Given the description of an element on the screen output the (x, y) to click on. 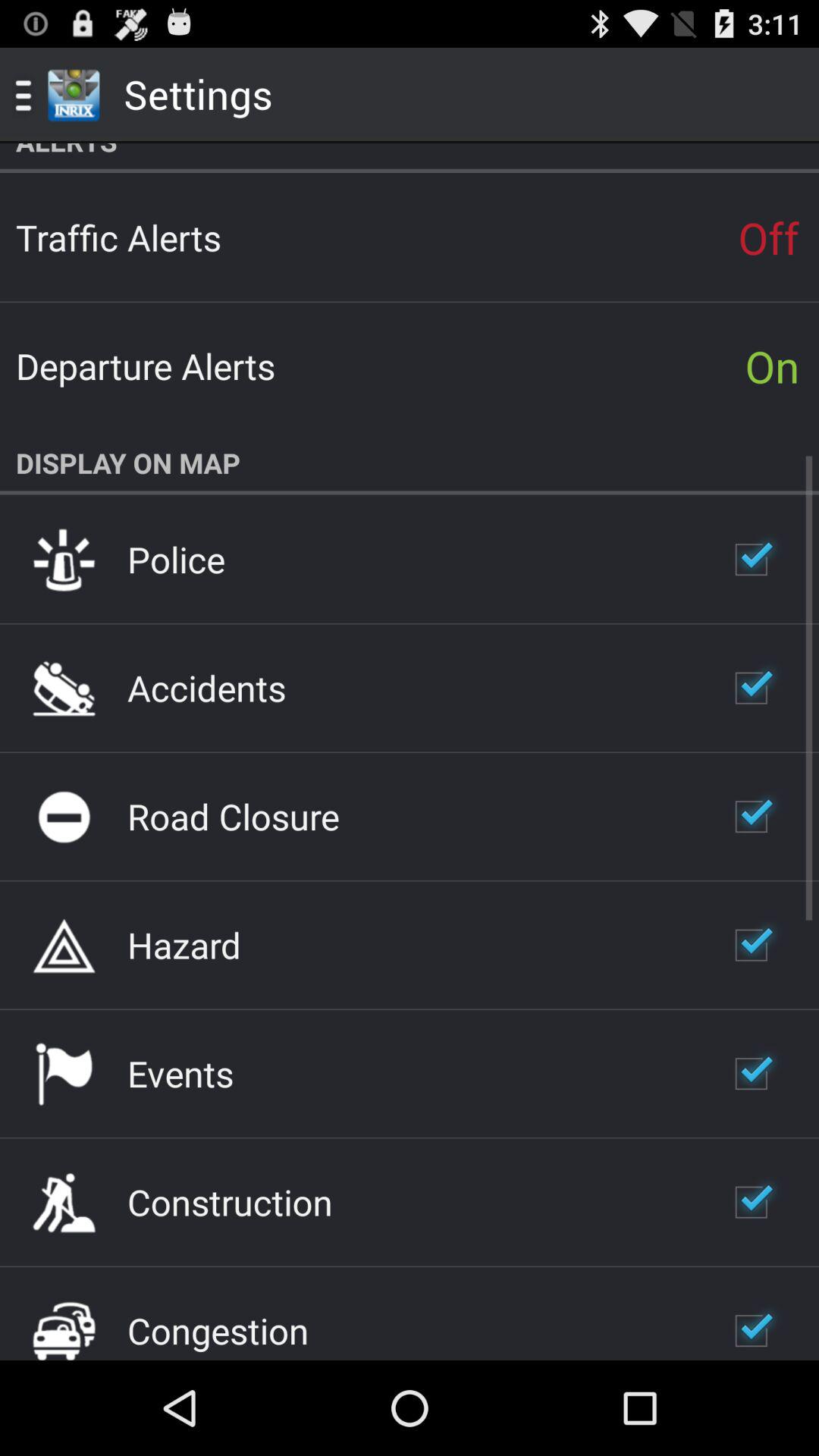
open traffic alerts icon (118, 237)
